Given the description of an element on the screen output the (x, y) to click on. 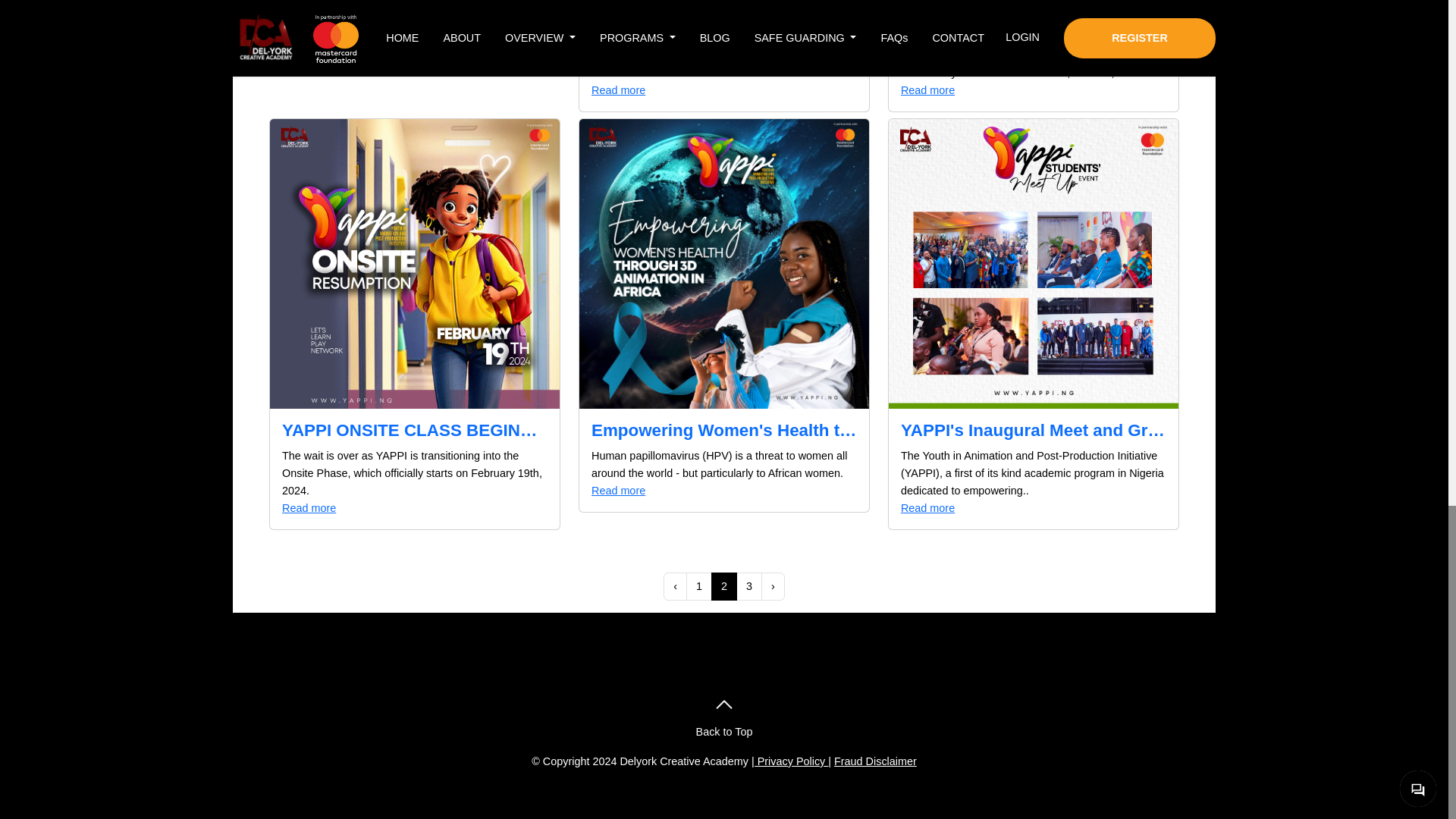
Read more (1033, 90)
Read more (414, 1)
YAPPI ONSITE CLASS BEGINS FOR COHORT 1 (414, 430)
Read more (414, 507)
The Art of Character Design in Animation (1033, 13)
Exploring Different Animation Styles: 2D vs. 3D Animation (724, 13)
Empowering Women's Health through 3D Animation in Africa (724, 430)
Read more (1033, 507)
Read more (724, 490)
Read more (724, 90)
